Given the description of an element on the screen output the (x, y) to click on. 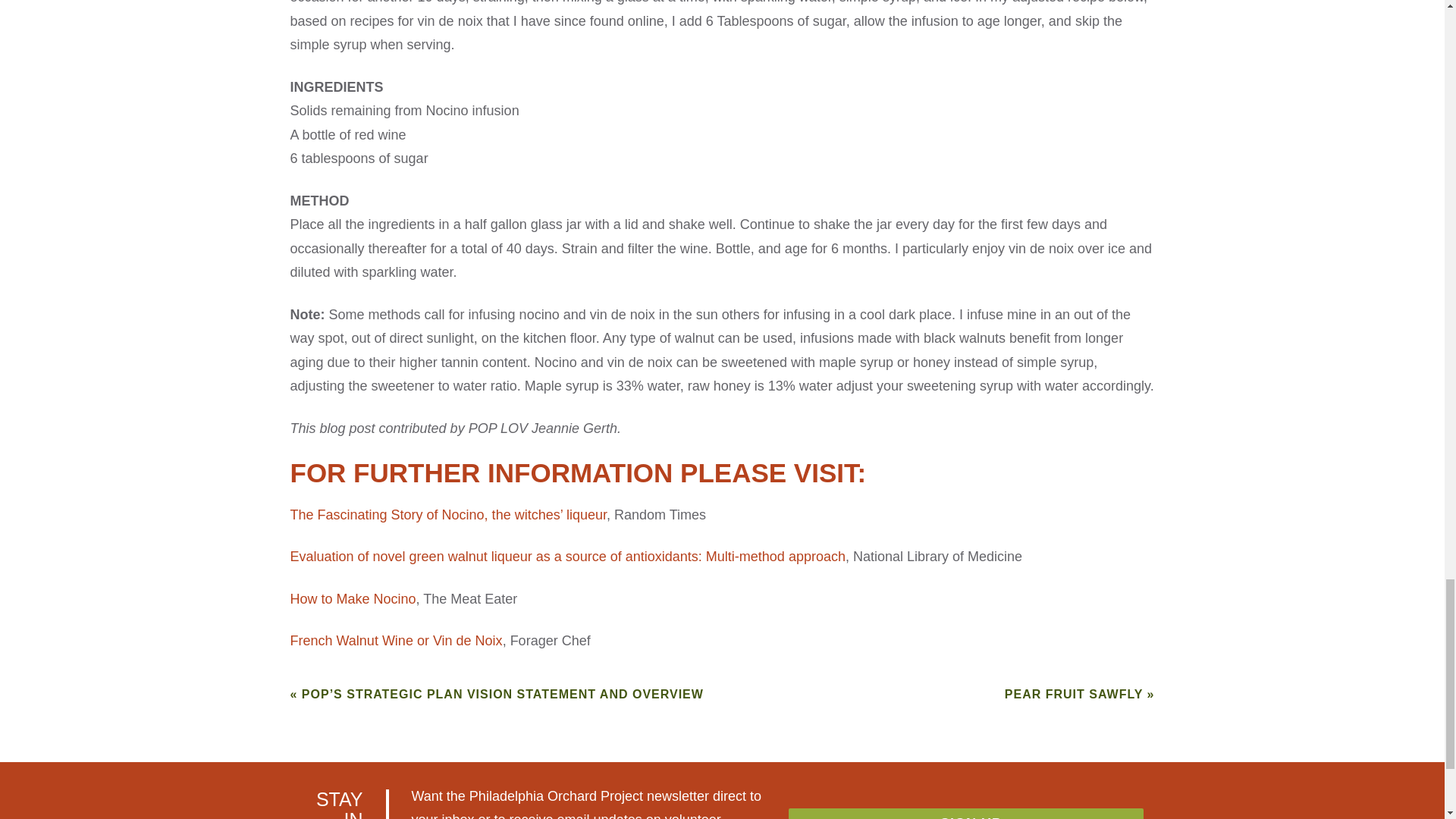
How to Make Nocino (351, 598)
French Walnut Wine or Vin de Noix (395, 640)
SIGN UP (965, 813)
